Given the description of an element on the screen output the (x, y) to click on. 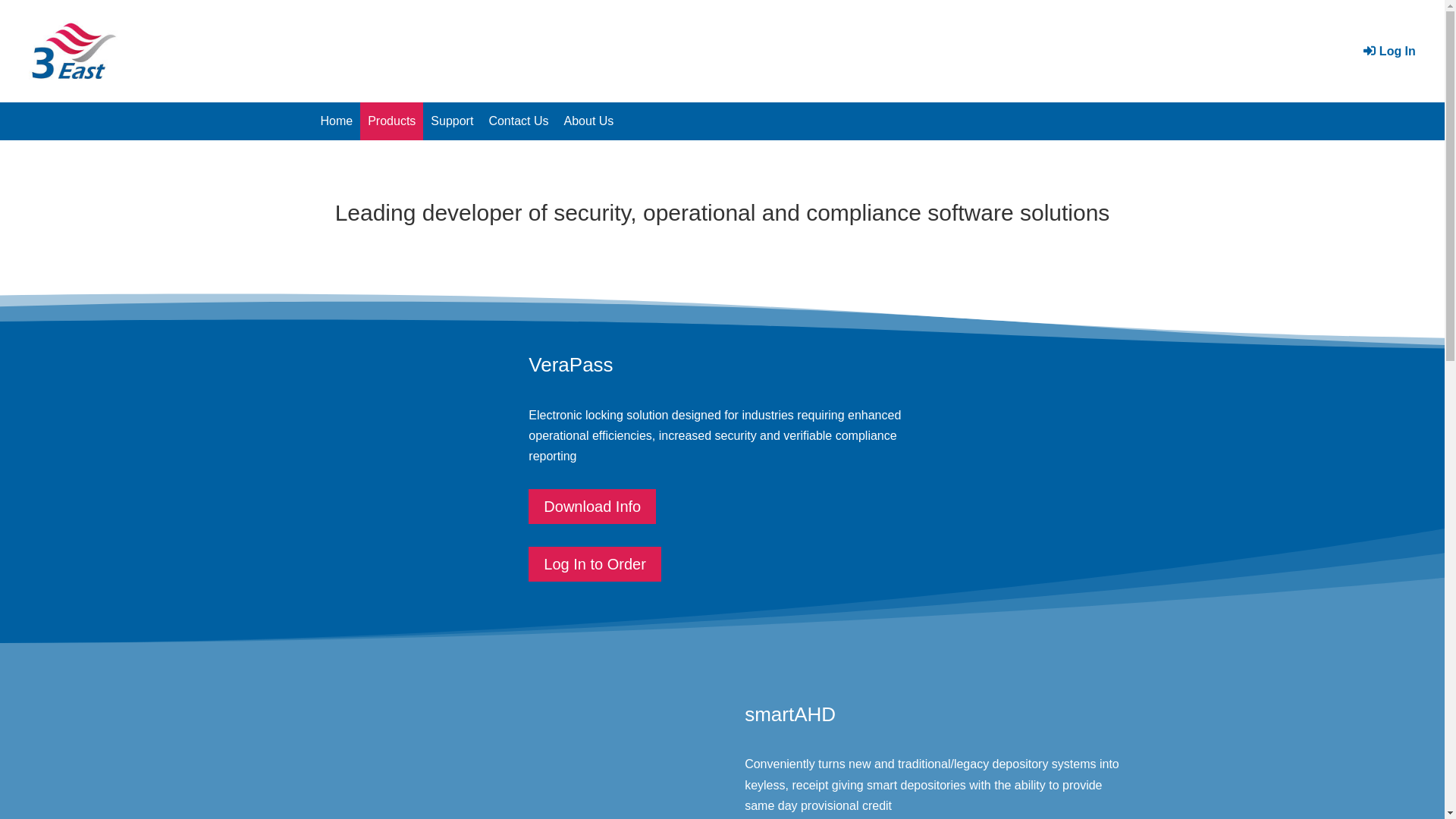
Download Info Element type: text (591, 506)
3-east-updated-logo Element type: hover (73, 50)
Log In Element type: text (1389, 50)
Products Element type: text (391, 121)
About Us Element type: text (588, 121)
Log In to Order Element type: text (594, 563)
Contact Us Element type: text (517, 121)
Home Element type: text (336, 121)
Support Element type: text (451, 121)
